Given the description of an element on the screen output the (x, y) to click on. 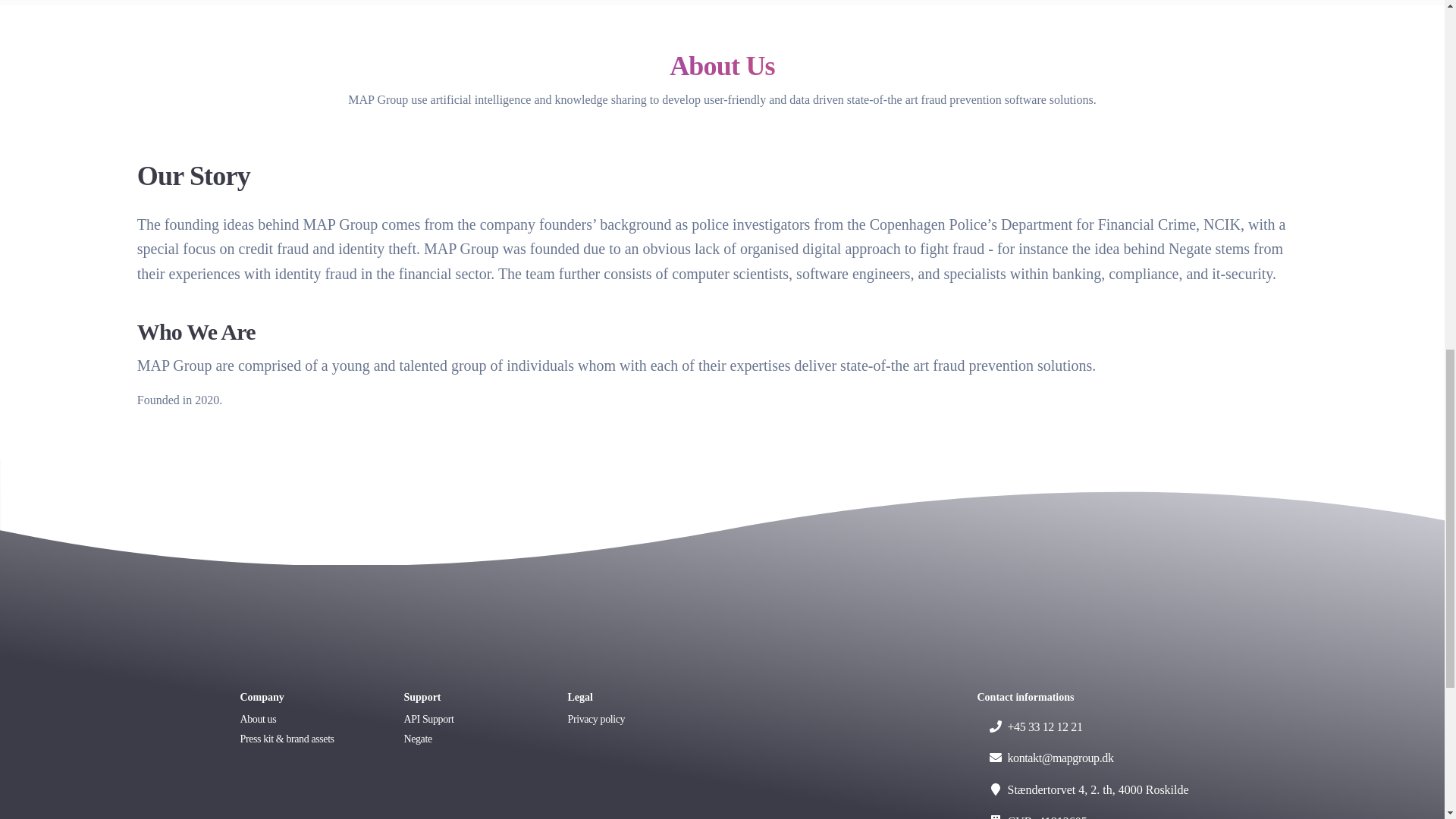
Privacy policy (633, 721)
Negate (469, 741)
API Support (469, 721)
About us (306, 721)
